Given the description of an element on the screen output the (x, y) to click on. 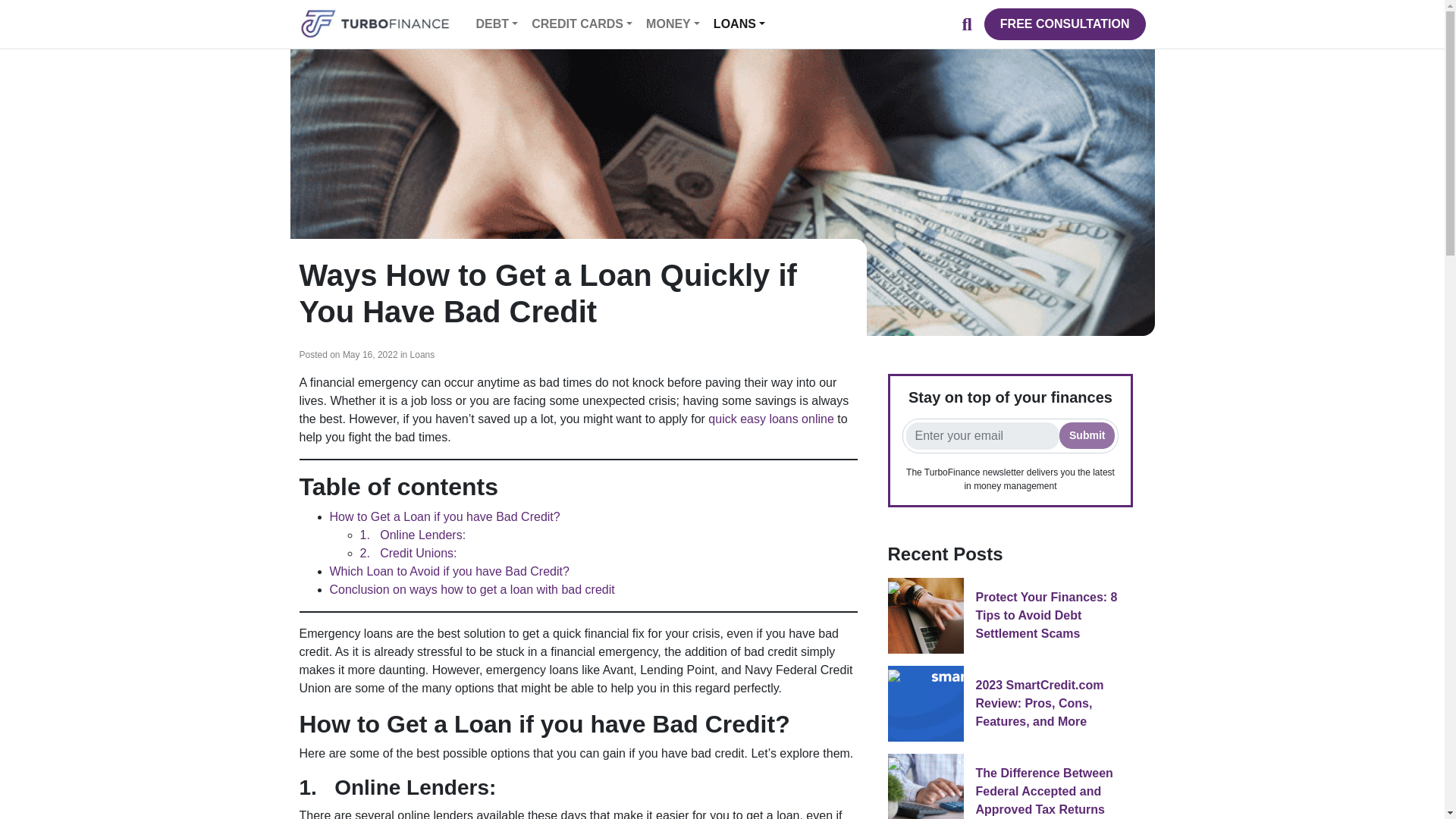
2.   Credit Unions: (408, 553)
Credit Cards (582, 24)
FREE CONSULTATION (1064, 24)
quick easy loans online (772, 418)
1.   Online Lenders: (412, 534)
How to Get a Loan if you have Bad Credit? (444, 516)
Which Loan to Avoid if you have Bad Credit? (449, 571)
CREDIT CARDS (582, 24)
Money (673, 24)
LOANS (739, 24)
MONEY (673, 24)
DEBT (497, 24)
Submit (1087, 435)
Conclusion on ways how to get a loan with bad credit (471, 589)
Debt (497, 24)
